Given the description of an element on the screen output the (x, y) to click on. 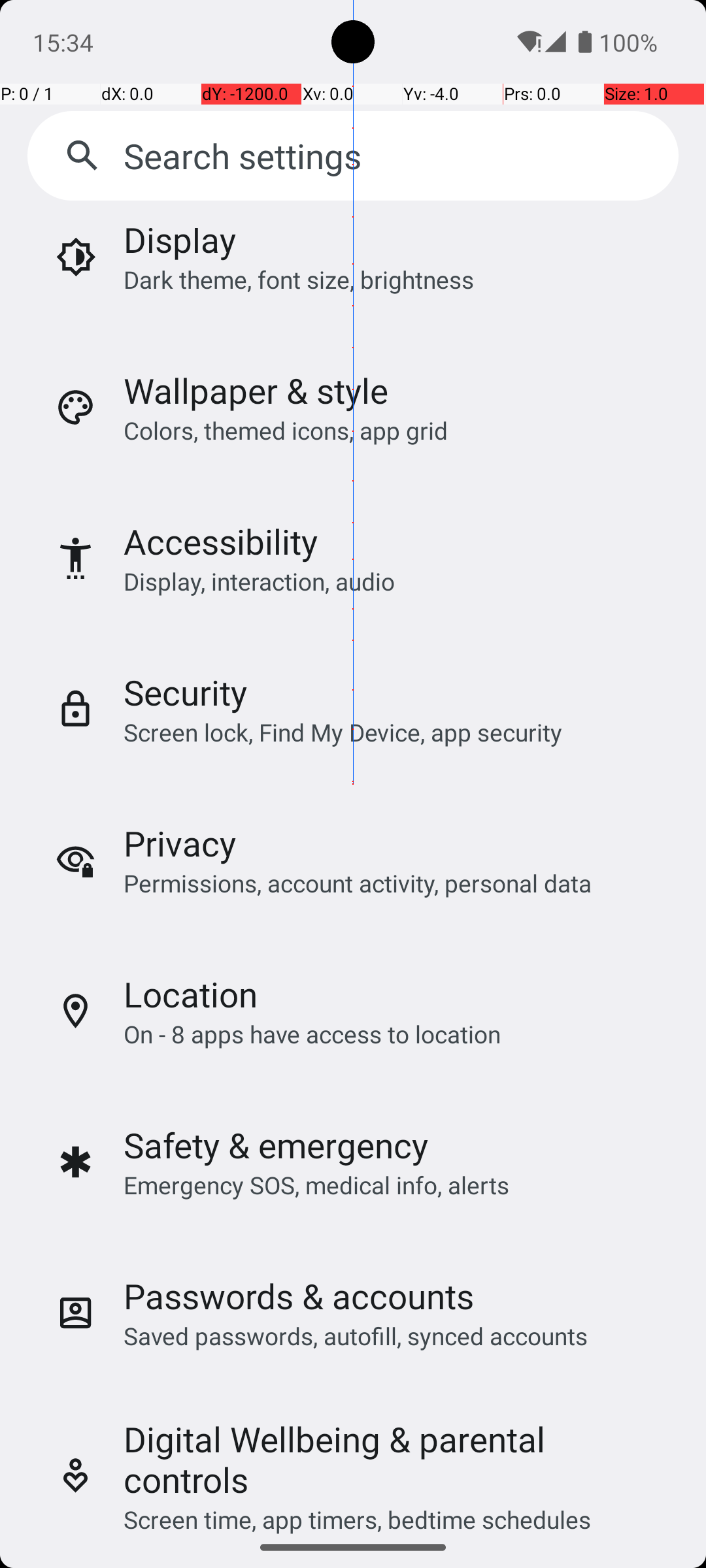
Display Element type: android.widget.TextView (179, 245)
Dark theme, font size, brightness Element type: android.widget.TextView (298, 278)
Wallpaper & style Element type: android.widget.TextView (255, 390)
Colors, themed icons, app grid Element type: android.widget.TextView (285, 429)
Accessibility Element type: android.widget.TextView (220, 541)
Display, interaction, audio Element type: android.widget.TextView (259, 580)
Security Element type: android.widget.TextView (185, 692)
Screen lock, Find My Device, app security Element type: android.widget.TextView (342, 731)
Permissions, account activity, personal data Element type: android.widget.TextView (357, 882)
On - 8 apps have access to location Element type: android.widget.TextView (312, 1033)
Safety & emergency Element type: android.widget.TextView (275, 1144)
Emergency SOS, medical info, alerts Element type: android.widget.TextView (316, 1184)
Passwords & accounts Element type: android.widget.TextView (298, 1295)
Saved passwords, autofill, synced accounts Element type: android.widget.TextView (355, 1335)
Digital Wellbeing & parental controls Element type: android.widget.TextView (393, 1458)
Screen time, app timers, bedtime schedules Element type: android.widget.TextView (356, 1514)
